Given the description of an element on the screen output the (x, y) to click on. 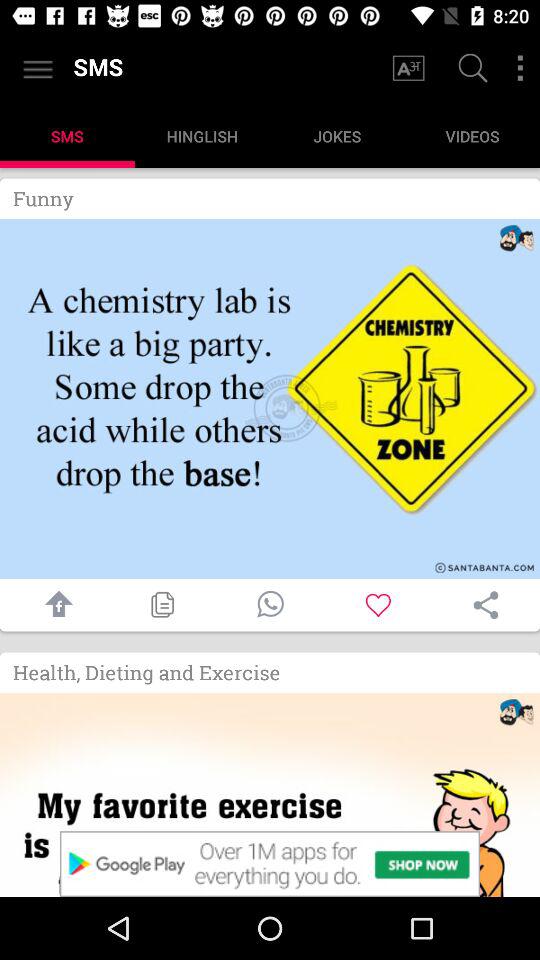
copy sms (162, 604)
